Given the description of an element on the screen output the (x, y) to click on. 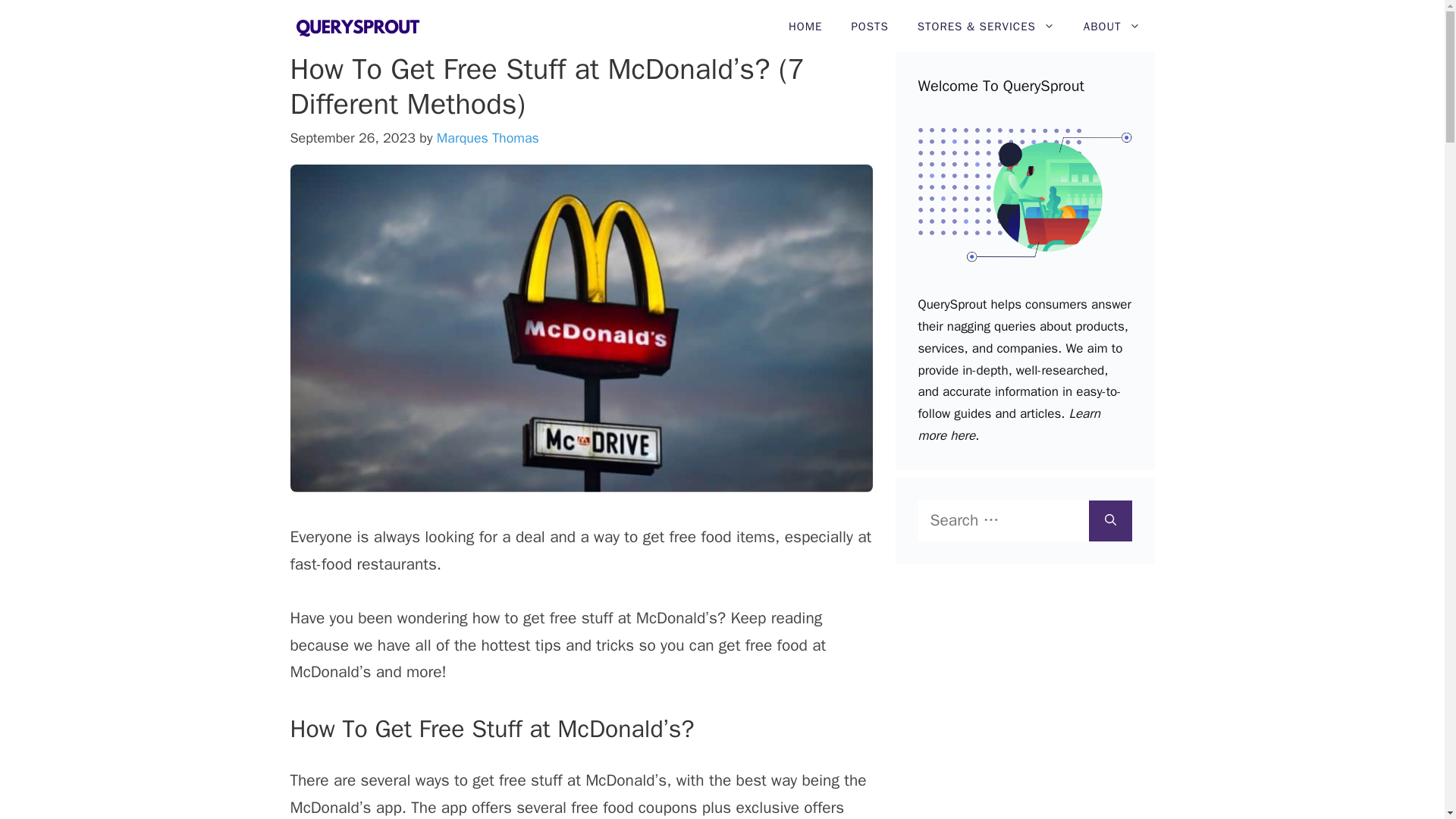
Search for: (1002, 520)
Marques Thomas (487, 137)
View all posts by Marques Thomas (487, 137)
ABOUT (1111, 26)
POSTS (868, 26)
Learn more here (1008, 424)
HOME (804, 26)
